Given the description of an element on the screen output the (x, y) to click on. 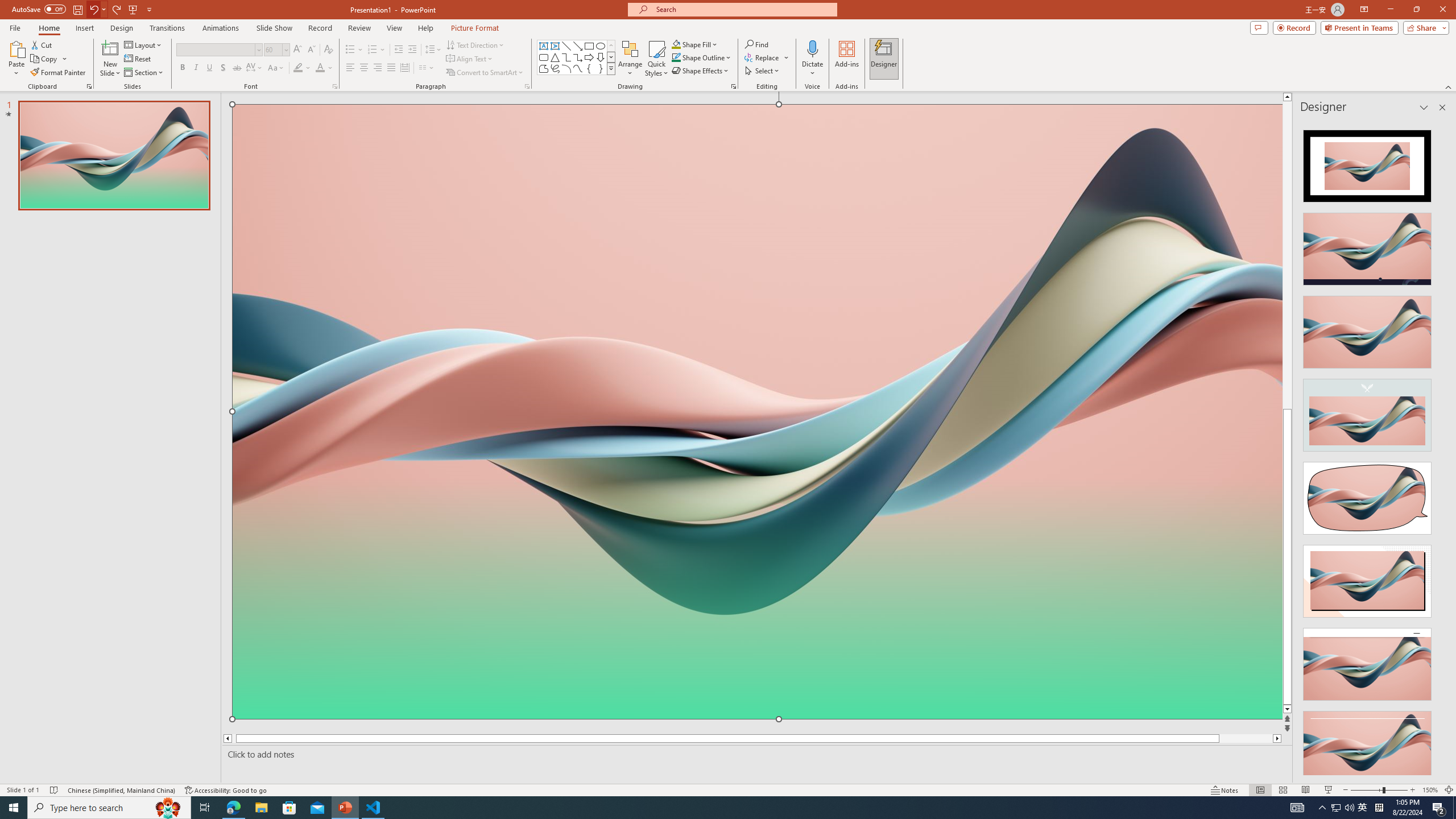
Decorative Locked (757, 579)
Recommended Design: Design Idea (1366, 162)
